Given the description of an element on the screen output the (x, y) to click on. 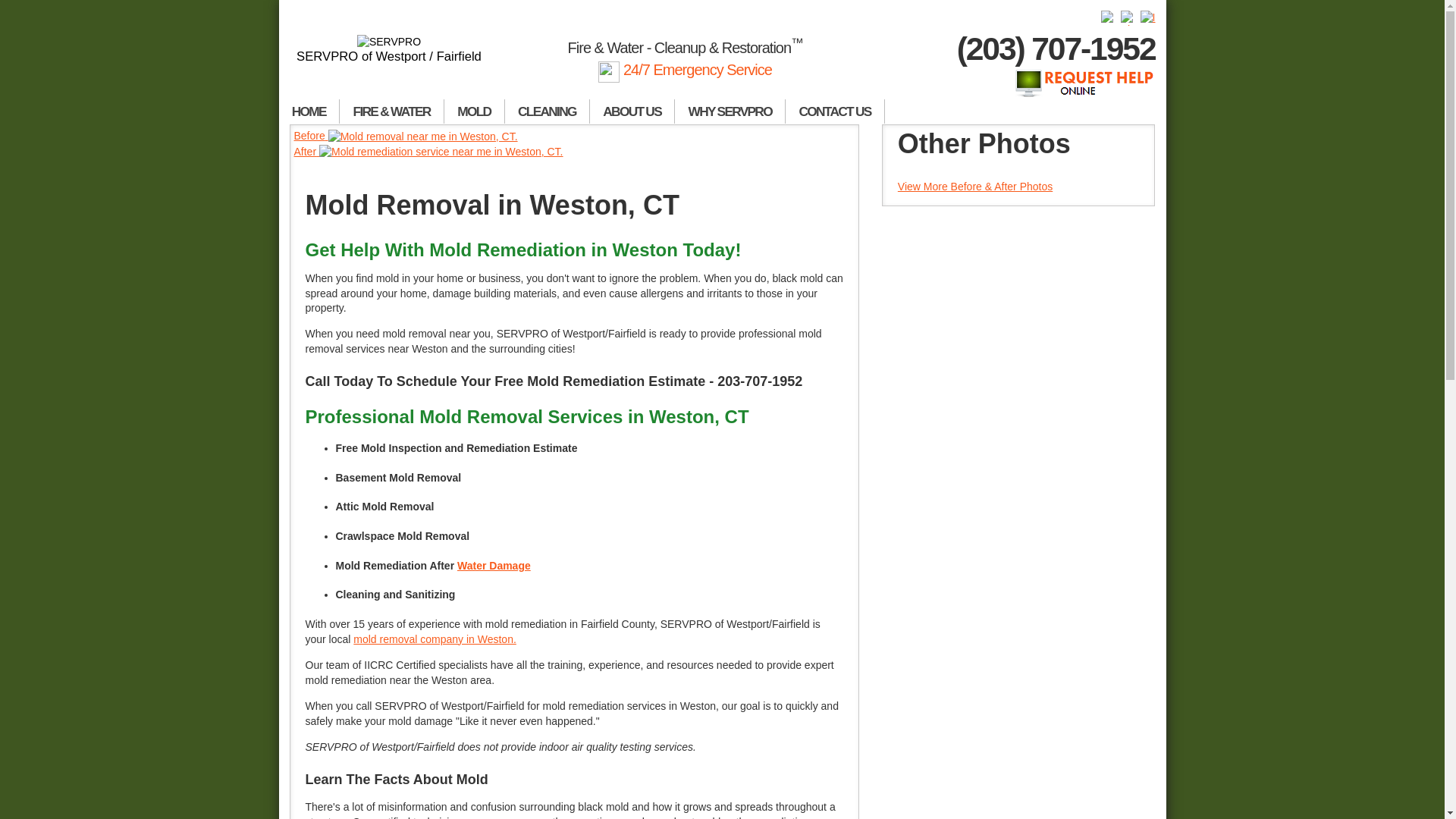
CLEANING (547, 111)
HOME (309, 111)
ABOUT US (632, 111)
MOLD (474, 111)
